Given the description of an element on the screen output the (x, y) to click on. 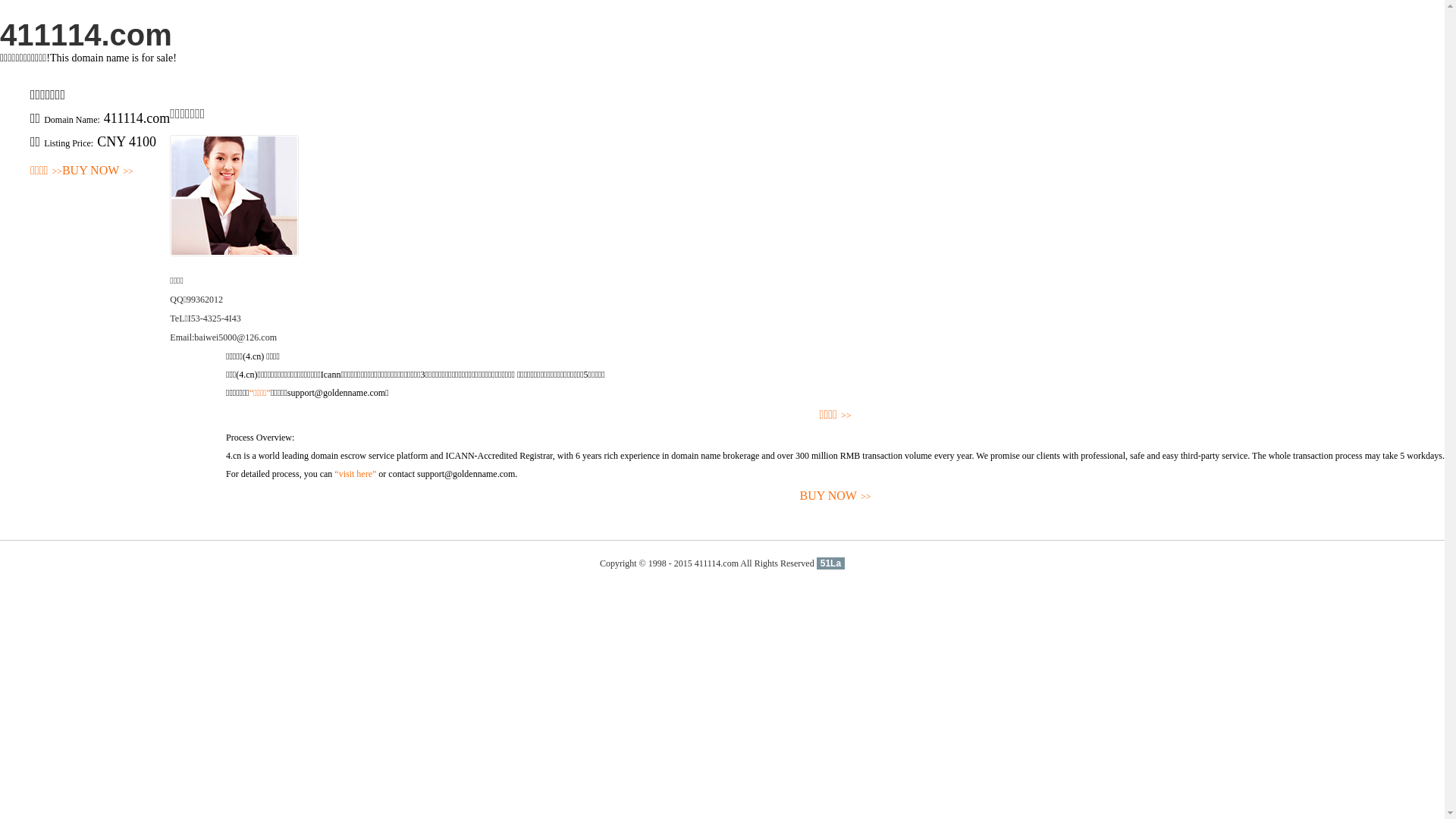
51La Element type: text (830, 563)
BUY NOW>> Element type: text (97, 170)
BUY NOW>> Element type: text (834, 496)
